Given the description of an element on the screen output the (x, y) to click on. 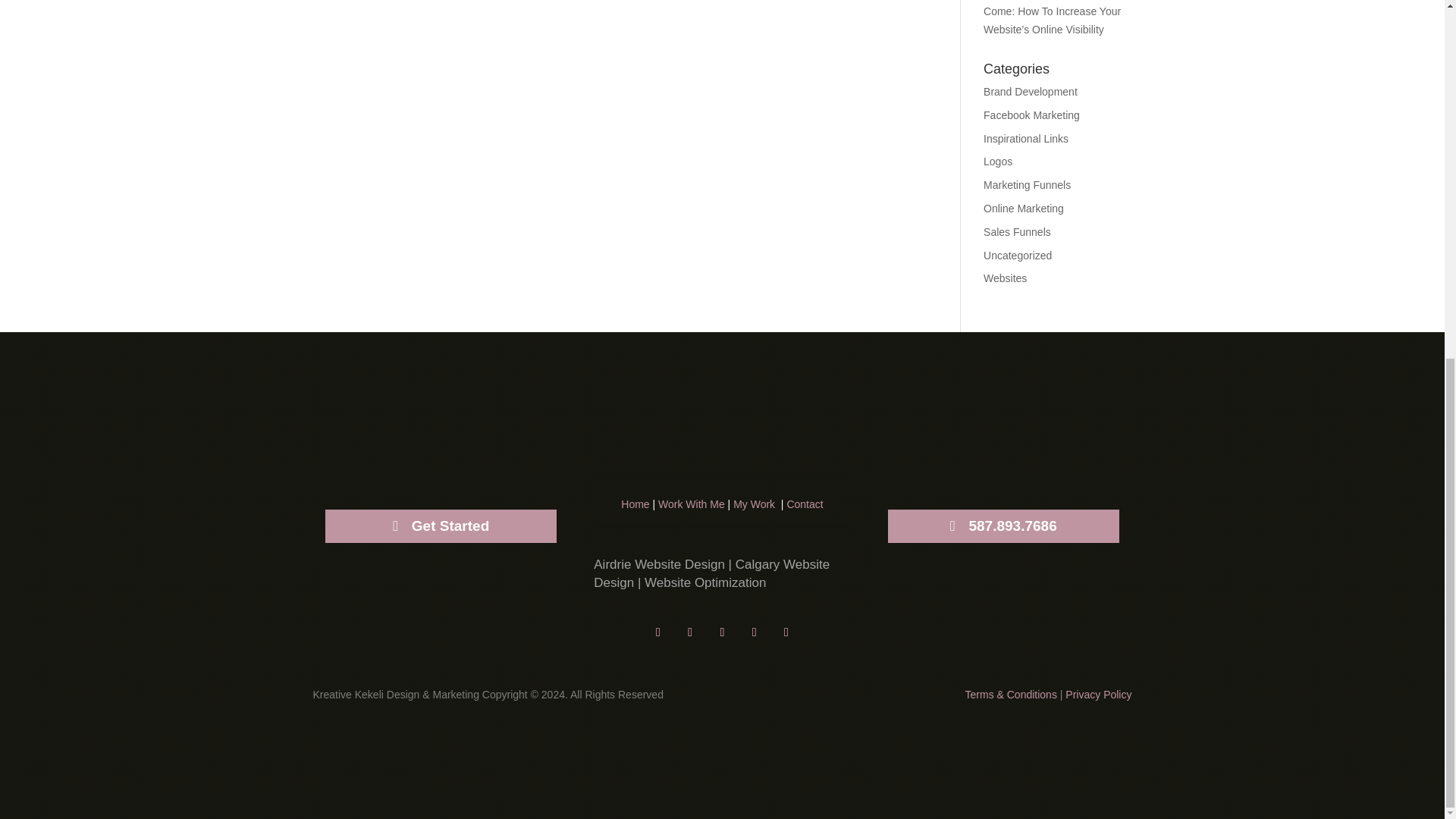
Get Started (440, 525)
Website Optimization (705, 582)
Uncategorized (1017, 255)
My Work (753, 503)
Facebook Marketing (1032, 114)
Airdrie Website Design (659, 564)
Follow on Pinterest (785, 631)
Work With Me (691, 503)
Contact (804, 503)
Follow on Instagram (754, 631)
Home (635, 503)
Websites (1005, 277)
Follow on LinkedIn (657, 631)
Online Marketing (1024, 208)
Inspirational Links (1026, 138)
